Given the description of an element on the screen output the (x, y) to click on. 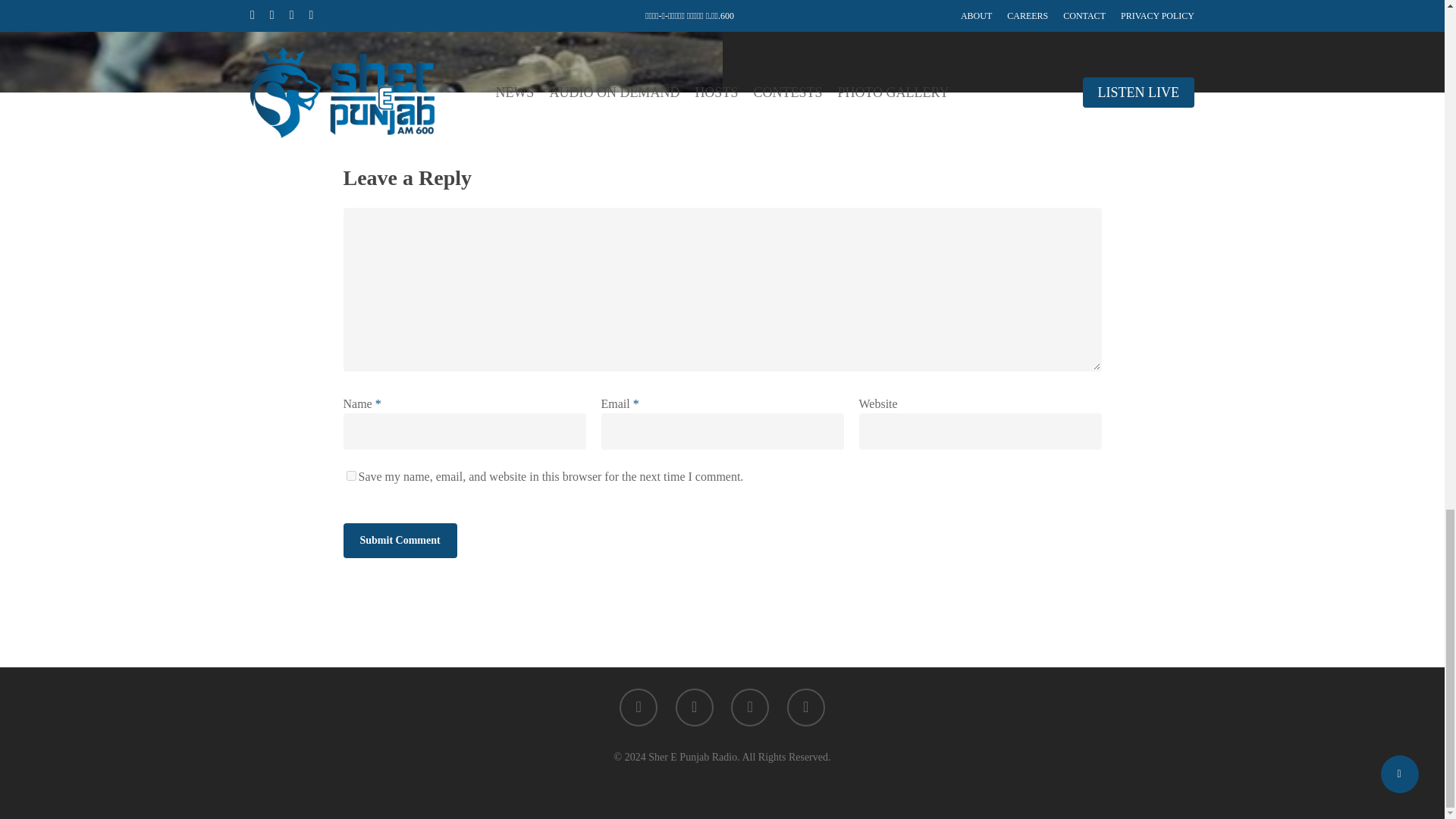
Submit Comment (399, 540)
yes (350, 475)
Submit Comment (399, 540)
